Given the description of an element on the screen output the (x, y) to click on. 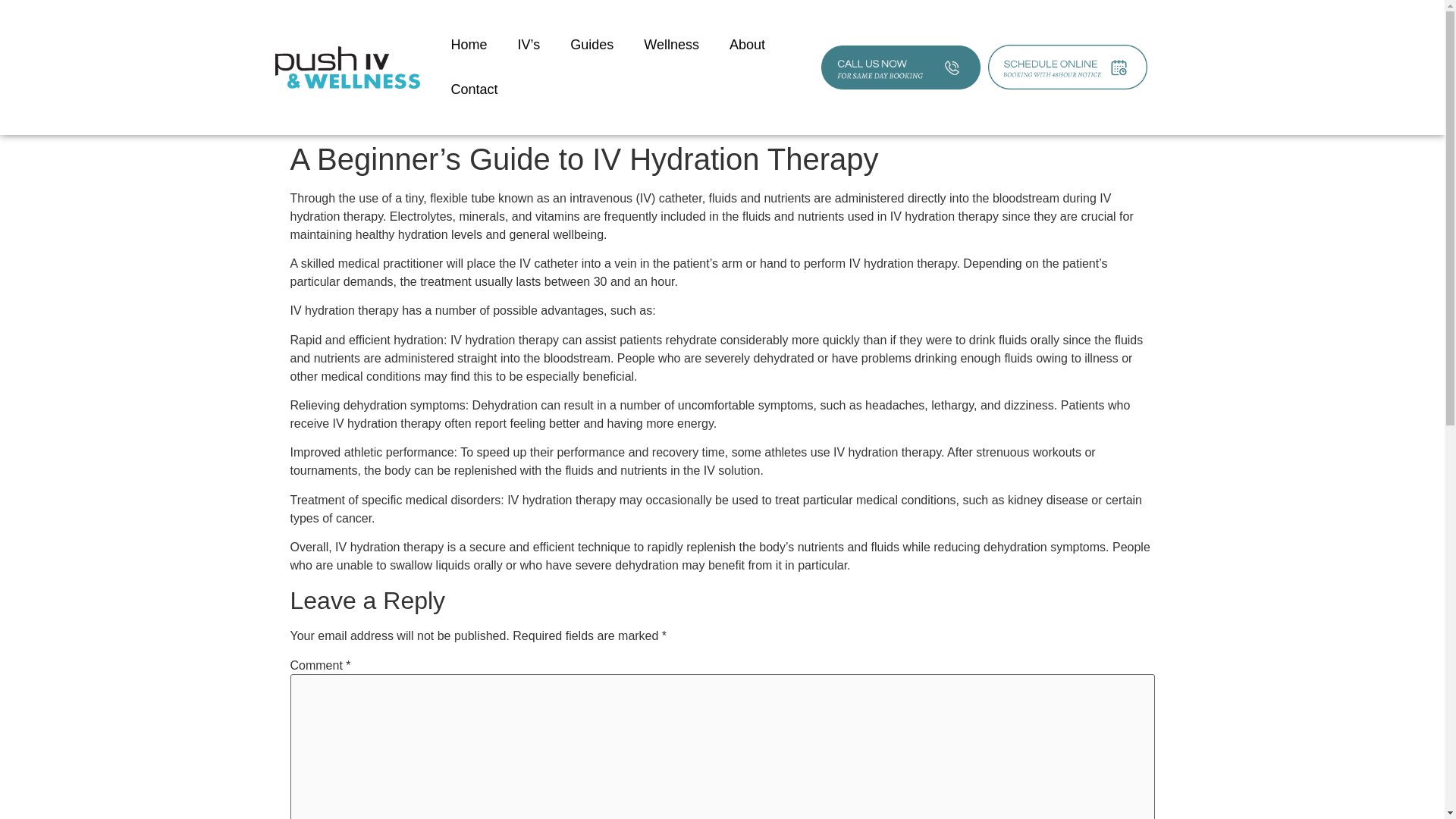
Guides (591, 44)
About (747, 44)
Wellness (671, 44)
Contact (473, 89)
Home (468, 44)
